Given the description of an element on the screen output the (x, y) to click on. 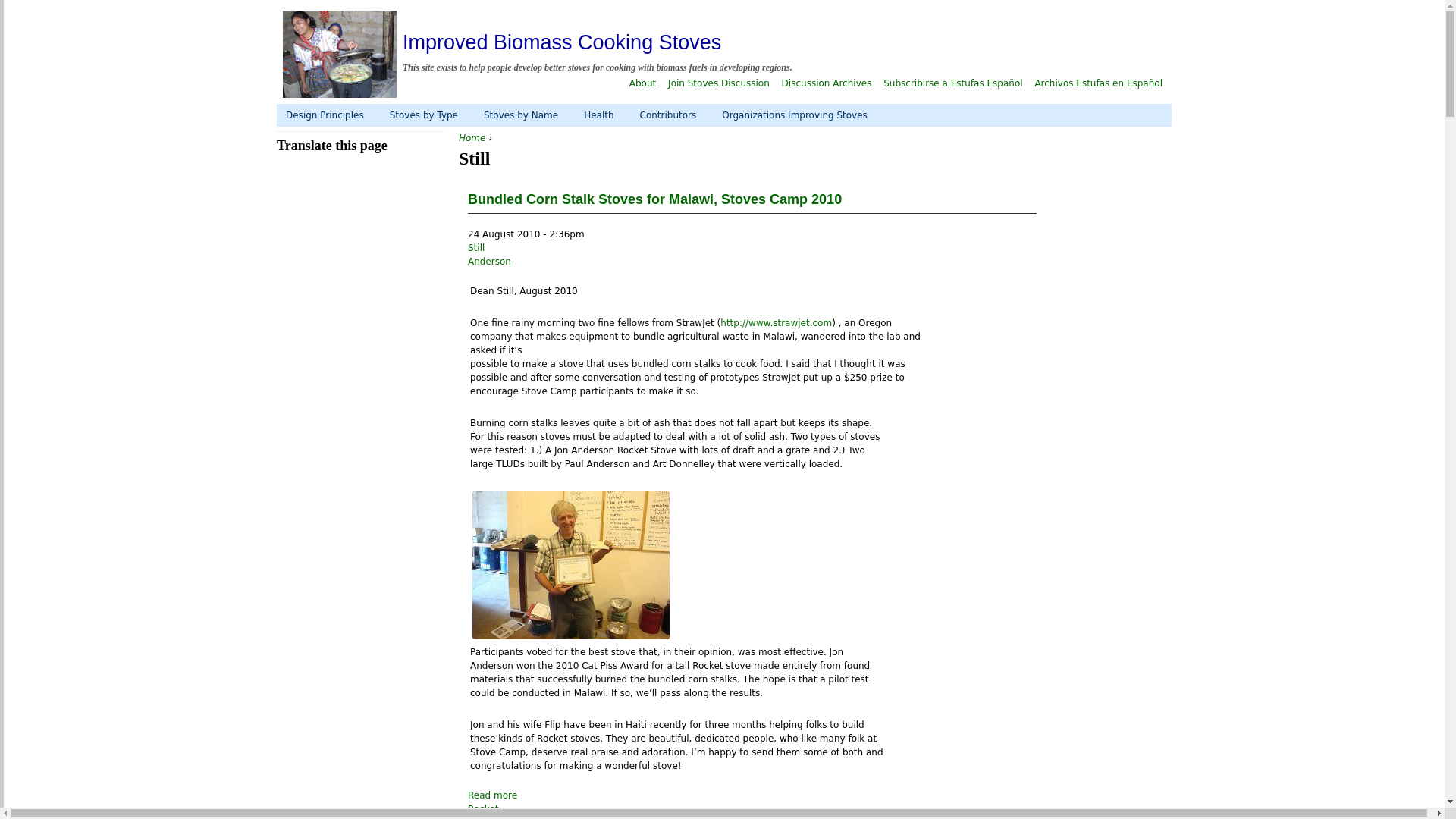
Home (471, 137)
Rocket (482, 808)
Read more (491, 795)
Home (561, 42)
Home (339, 54)
Discussion Archives (826, 81)
Anderson (489, 261)
About (642, 81)
Bundled Corn Stalk Stoves for Malawi, Stoves Camp 2010 (654, 199)
Still (475, 247)
